Given the description of an element on the screen output the (x, y) to click on. 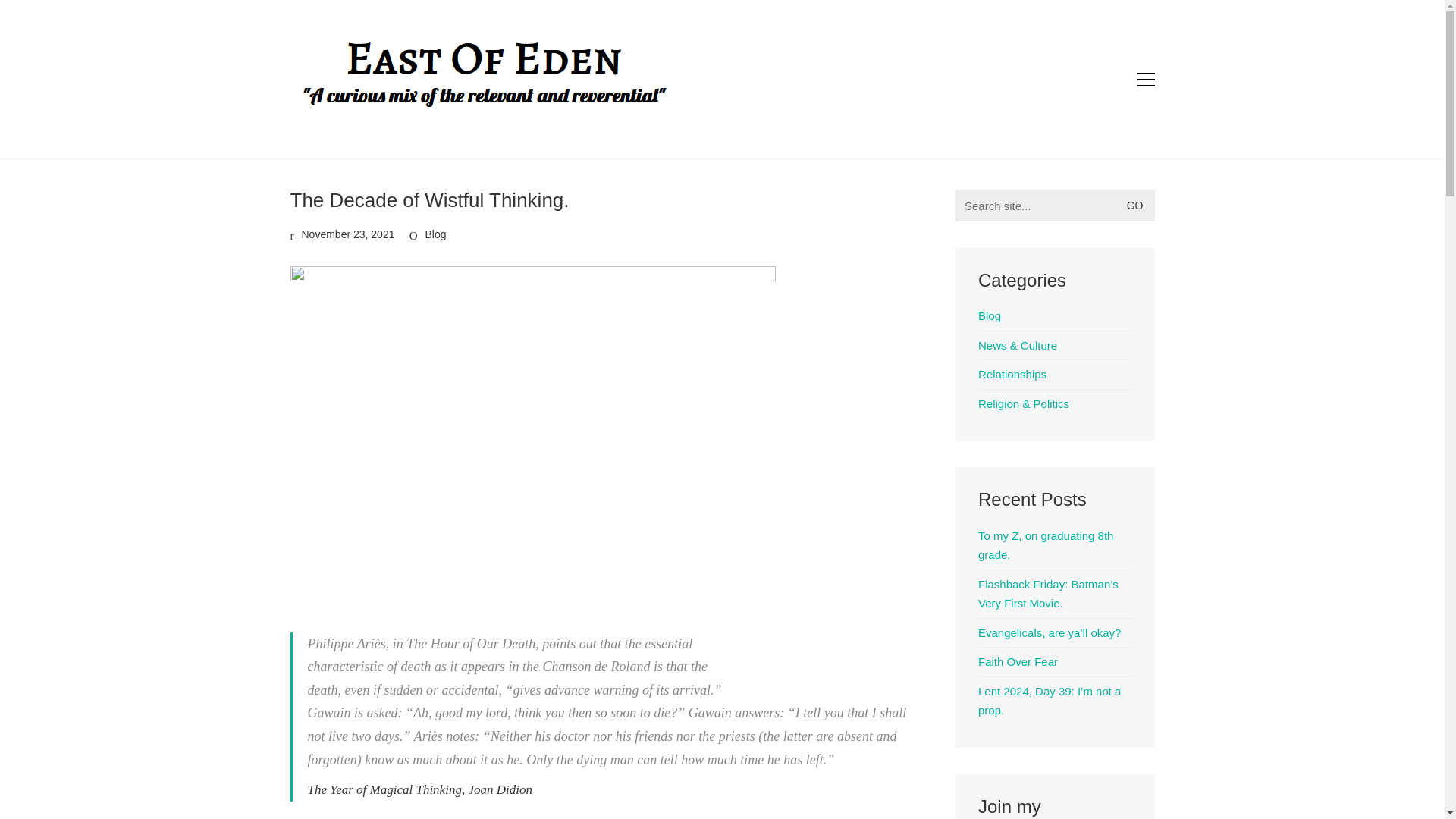
To my Z, on graduating 8th grade. (1055, 545)
Blog (435, 234)
Go (1138, 205)
Search for: (1054, 205)
Go (1138, 205)
Faith Over Fear (1018, 661)
Go (1138, 205)
Blog (989, 315)
Relationships (1012, 374)
